Given the description of an element on the screen output the (x, y) to click on. 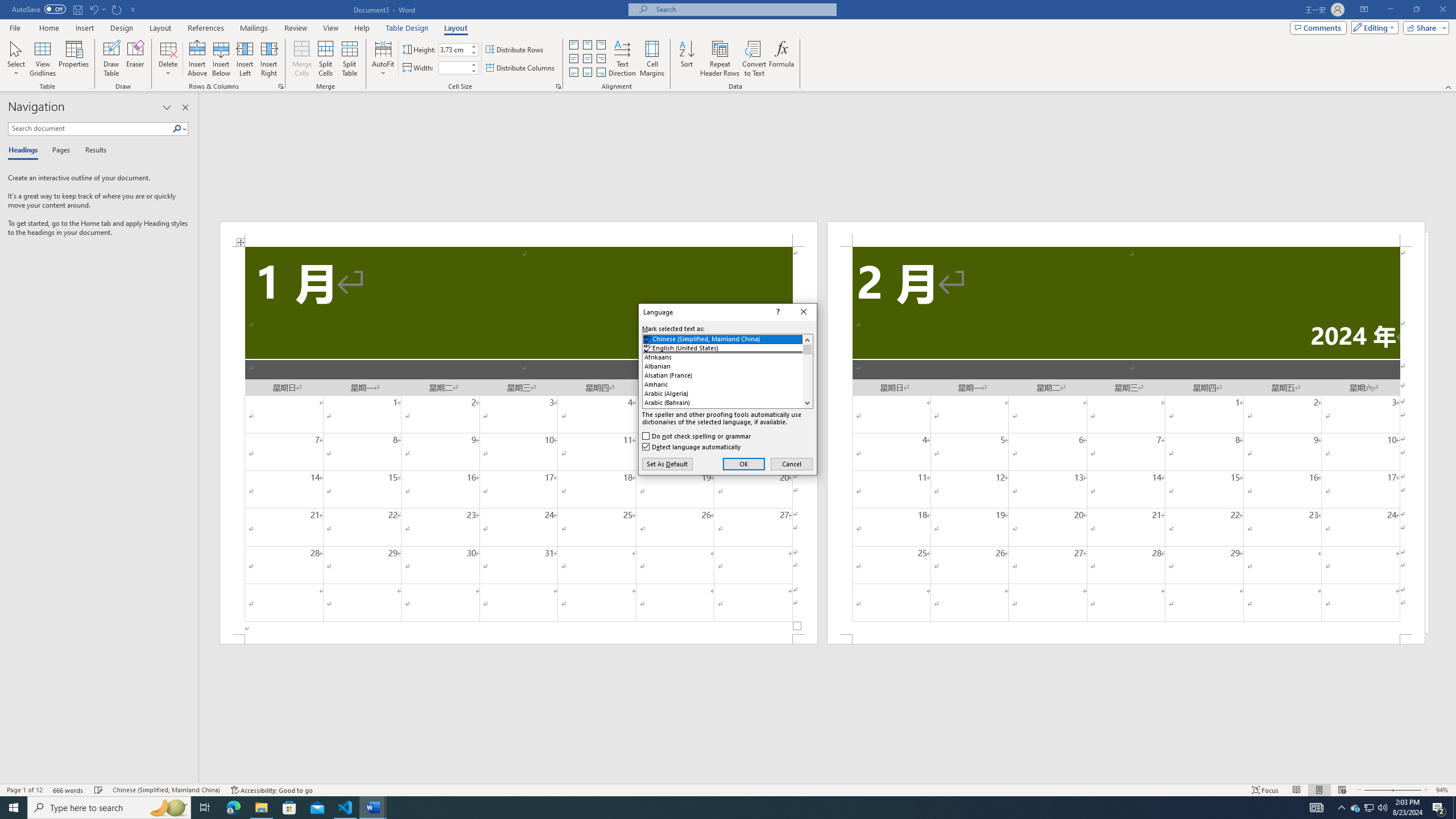
Search document (89, 128)
Properties... (558, 85)
Visual Studio Code - 1 running window (345, 807)
Align Center (587, 58)
Align Bottom Justified (573, 72)
Less (473, 70)
Footer -Section 2- (1126, 638)
Line up (807, 339)
View Gridlines (42, 58)
Footer -Section 1- (518, 638)
AutomationID: 4105 (1316, 807)
Microsoft search (742, 9)
Home (48, 28)
Insert Cells... (280, 85)
